Given the description of an element on the screen output the (x, y) to click on. 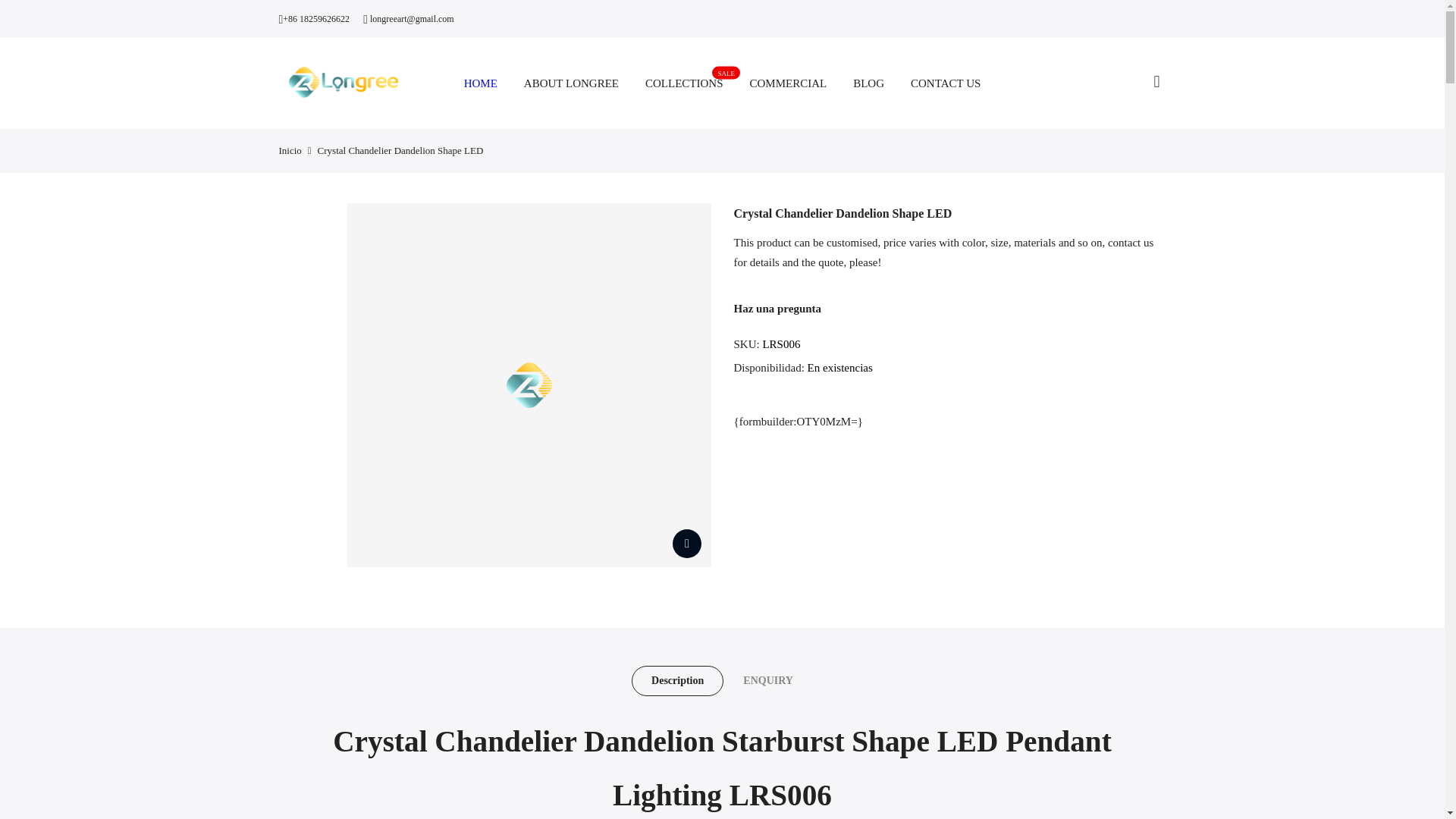
About us (709, 491)
Haz una pregunta (777, 308)
ENQUIRY (767, 680)
CONTACT US (946, 82)
GLASS WALL PLATES (683, 82)
ABOUT LONGREE (563, 597)
FAQs (571, 82)
Longree (701, 571)
Description (856, 794)
OUTDOOR LIGHTINGS (677, 680)
ARCHITECTURAL LIGHTINGS (566, 571)
DECORATIVE LIGHTINGS (584, 544)
CASCADING CHANDELIERS (574, 491)
COMMERCIAL (579, 517)
